Given the description of an element on the screen output the (x, y) to click on. 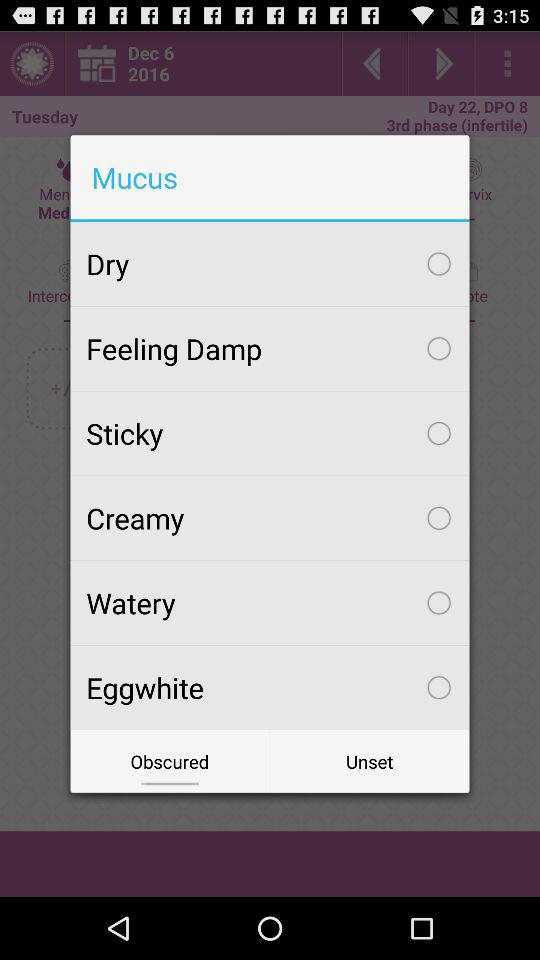
tap the eggwhite checkbox (269, 687)
